Given the description of an element on the screen output the (x, y) to click on. 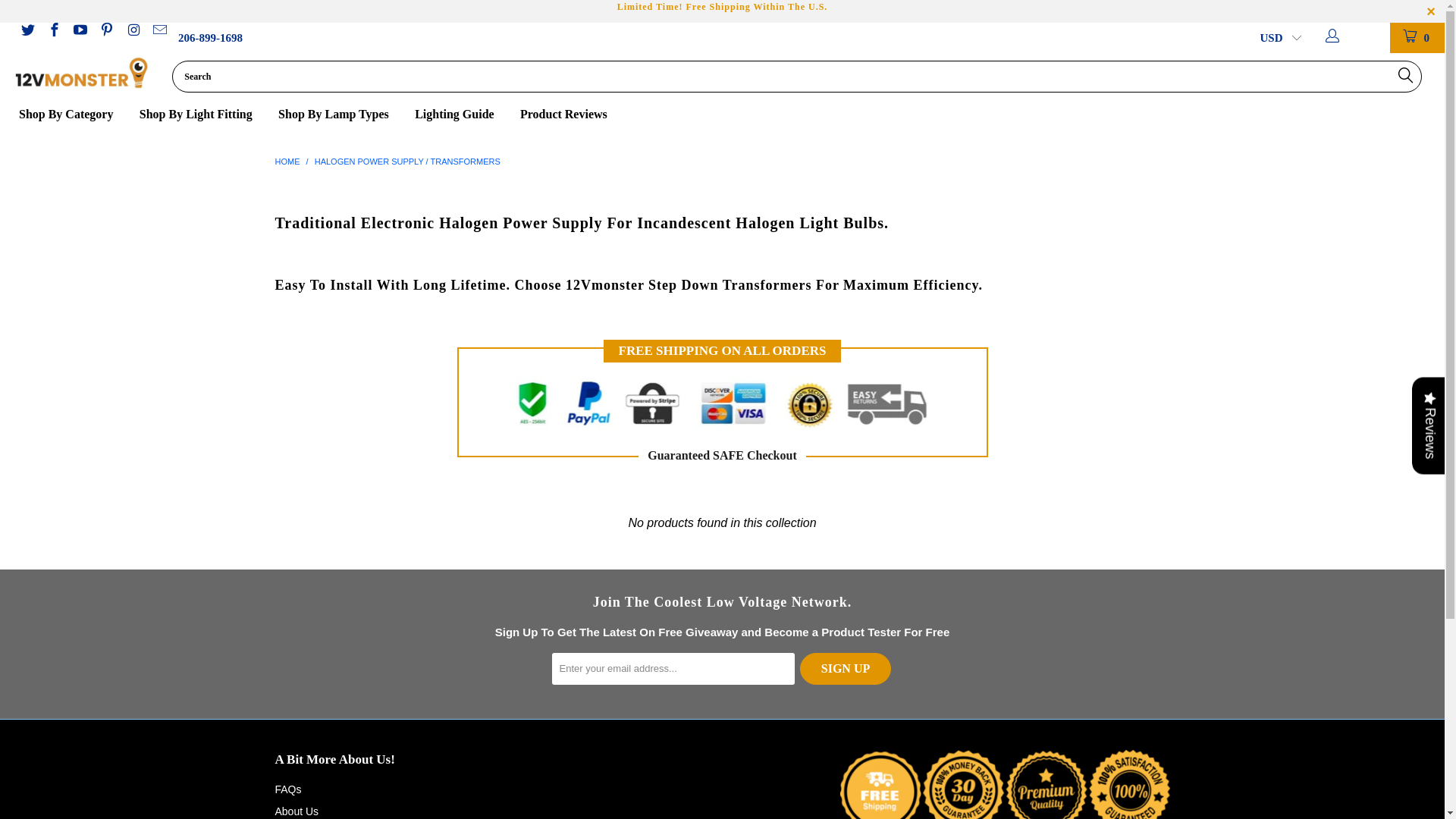
12VMonster Lighting  on YouTube Element type: hover (79, 31)
12VMonster Lighting  on Pinterest Element type: hover (106, 31)
12VMonster Lighting  Element type: hover (82, 72)
Lighting Guide Element type: text (461, 114)
Product Reviews Element type: text (563, 114)
206-899-1698 Element type: text (210, 37)
0 Element type: text (1417, 37)
Shop By Lamp Types Element type: text (341, 114)
Email 12VMonster Lighting  Element type: hover (158, 31)
12VMonster Lighting  on Facebook Element type: hover (53, 31)
HOME Element type: text (286, 161)
12VMonster Lighting  on Twitter Element type: hover (26, 31)
Shop By Light Fitting Element type: text (203, 114)
12VMonster Lighting  on Instagram Element type: hover (132, 31)
HALOGEN POWER SUPPLY / TRANSFORMERS Element type: text (407, 161)
FAQs Element type: text (287, 789)
Sign Up Element type: text (845, 668)
Shop By Category Element type: text (73, 114)
Login Element type: text (1351, 37)
About Us Element type: text (296, 811)
